Given the description of an element on the screen output the (x, y) to click on. 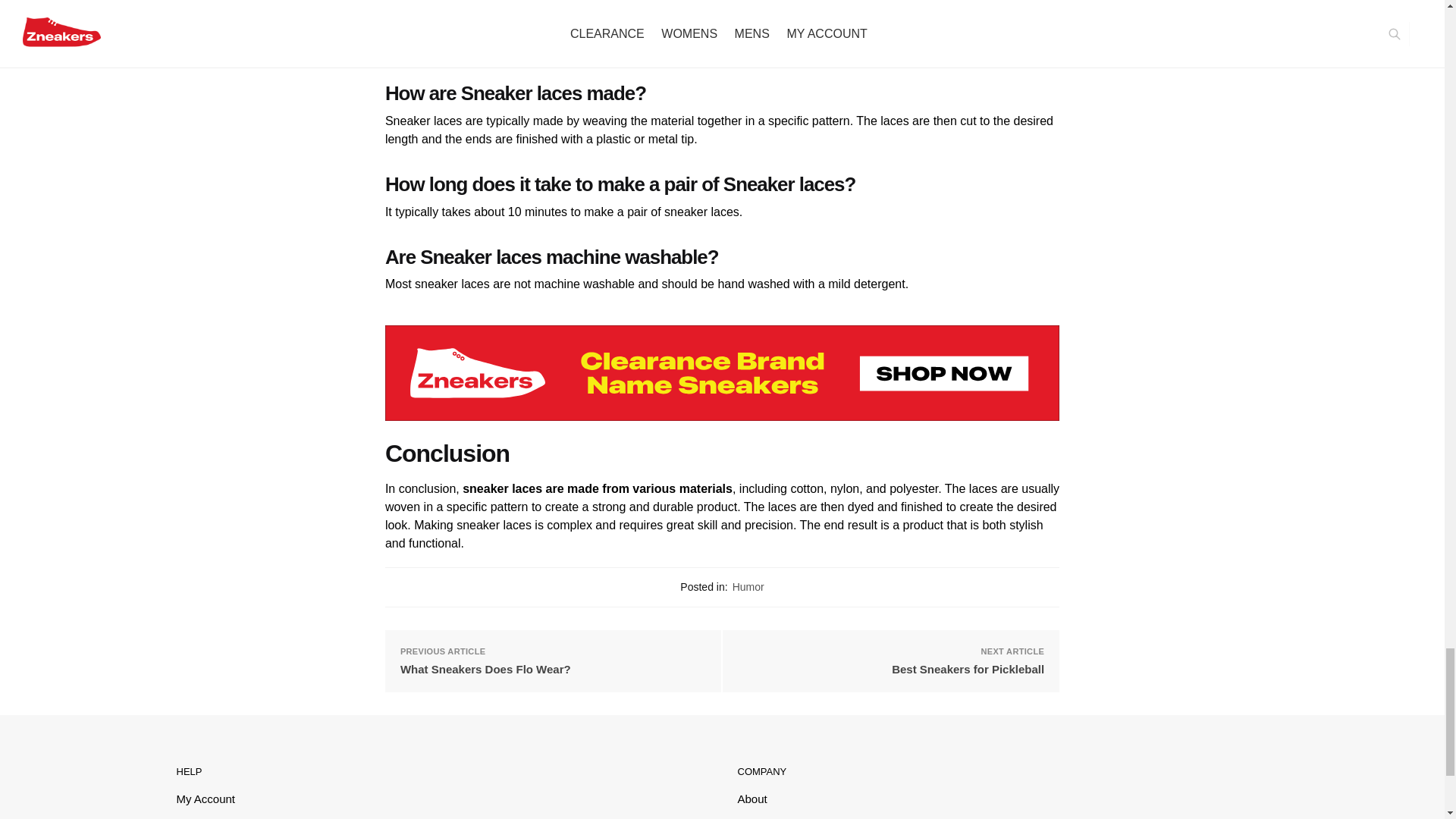
Humor (748, 586)
